Given the description of an element on the screen output the (x, y) to click on. 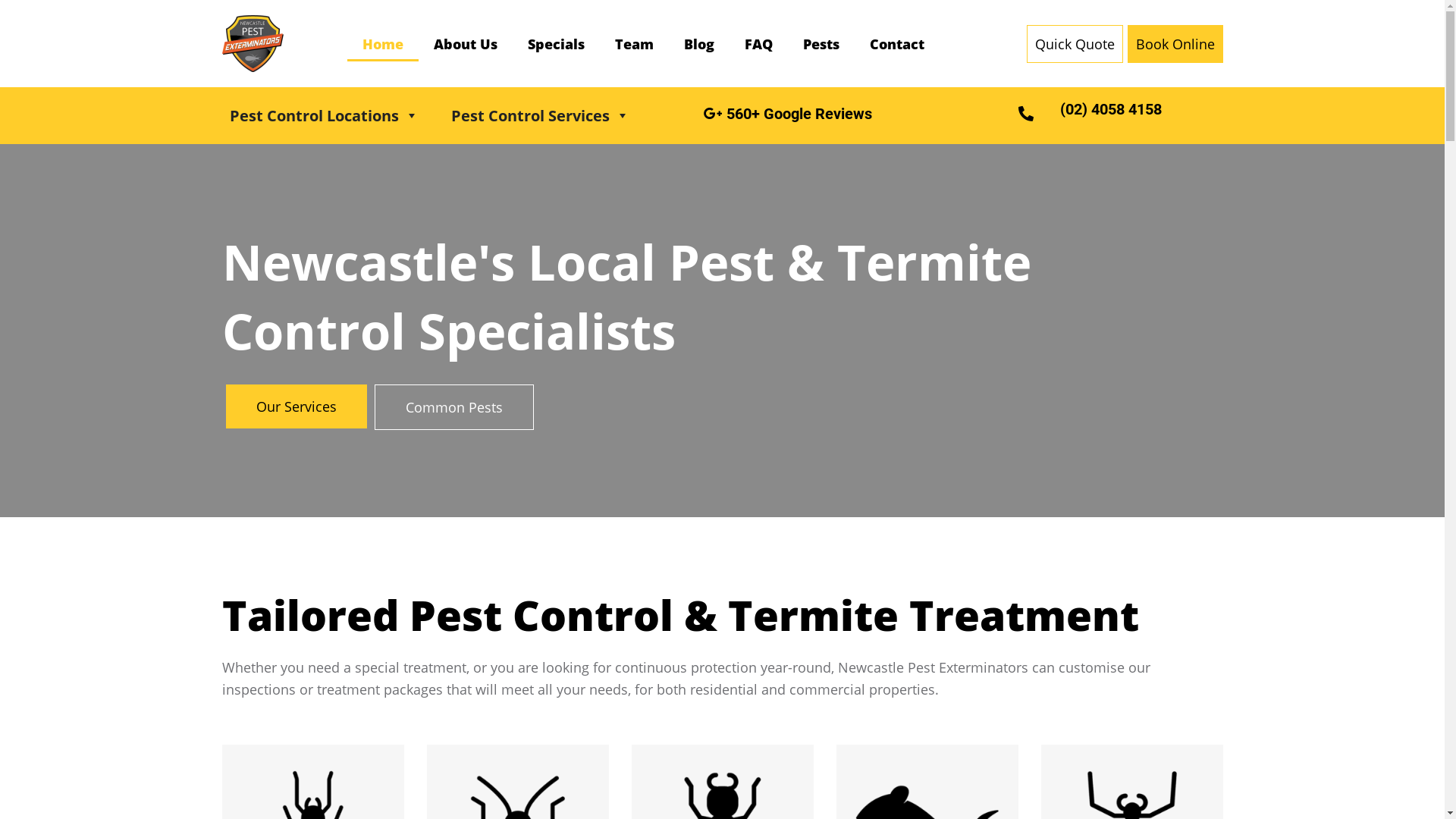
Specials Element type: text (555, 42)
Pest Control Locations Element type: text (323, 115)
Quick Quote Element type: text (1074, 43)
Our Services Element type: text (296, 406)
Home Element type: text (382, 42)
Contact Element type: text (895, 42)
Blog Element type: text (698, 42)
560+ Google Reviews Element type: text (787, 113)
1 Newcastle Element type: hover (251, 43)
Team Element type: text (633, 42)
Pest Control Services Element type: text (540, 115)
Book Online Element type: text (1174, 43)
About Us Element type: text (465, 42)
Pests Element type: text (820, 42)
Common Pests Element type: text (453, 406)
FAQ Element type: text (758, 42)
(02) 4058 4158 Element type: text (1110, 109)
